Given the description of an element on the screen output the (x, y) to click on. 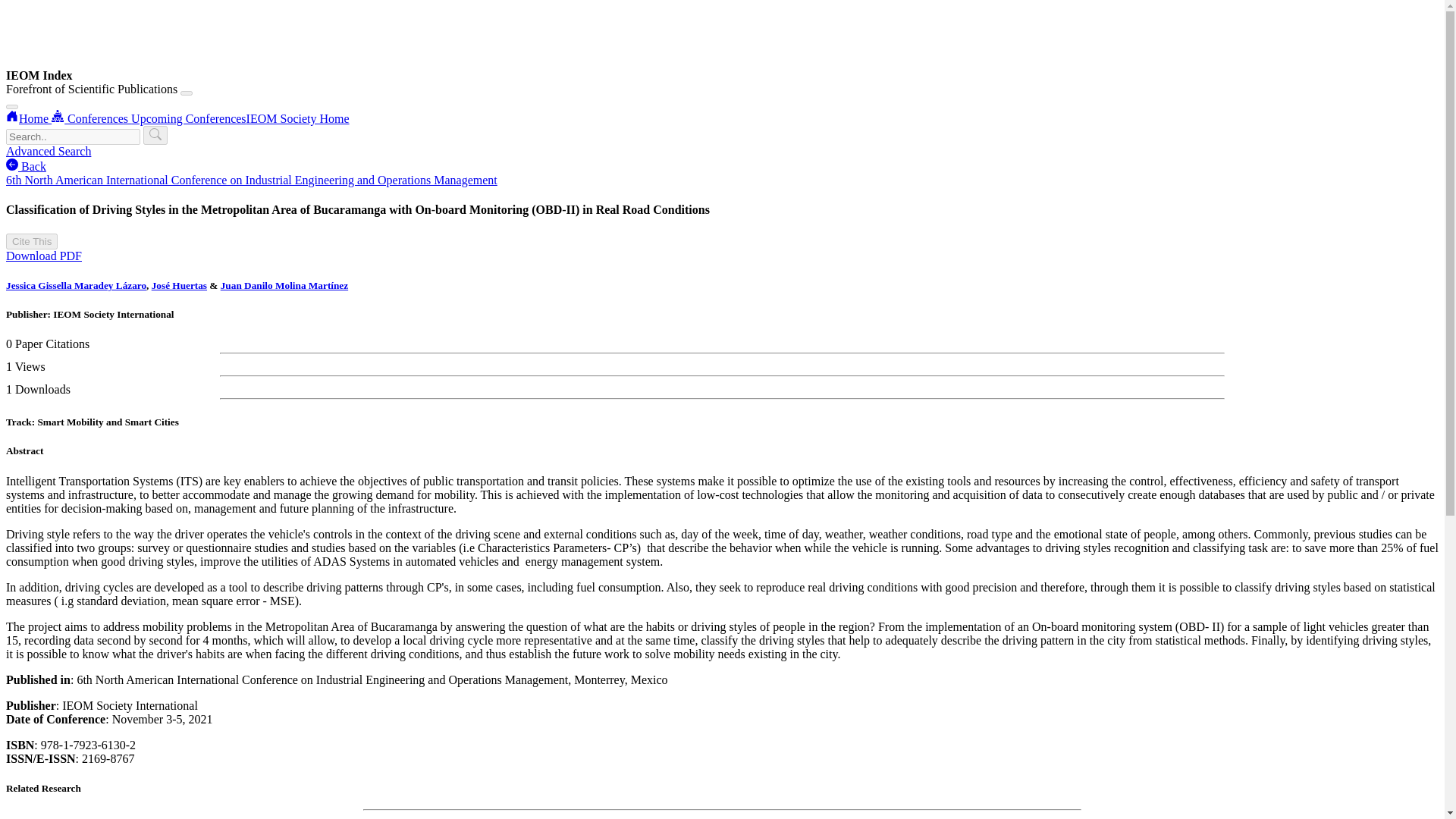
Back (25, 165)
Cite This (31, 241)
Conferences (90, 118)
Download PDF (43, 255)
IEOM Society Home (297, 118)
Home (27, 118)
Upcoming Conferences (188, 118)
Advanced Search (47, 151)
